Given the description of an element on the screen output the (x, y) to click on. 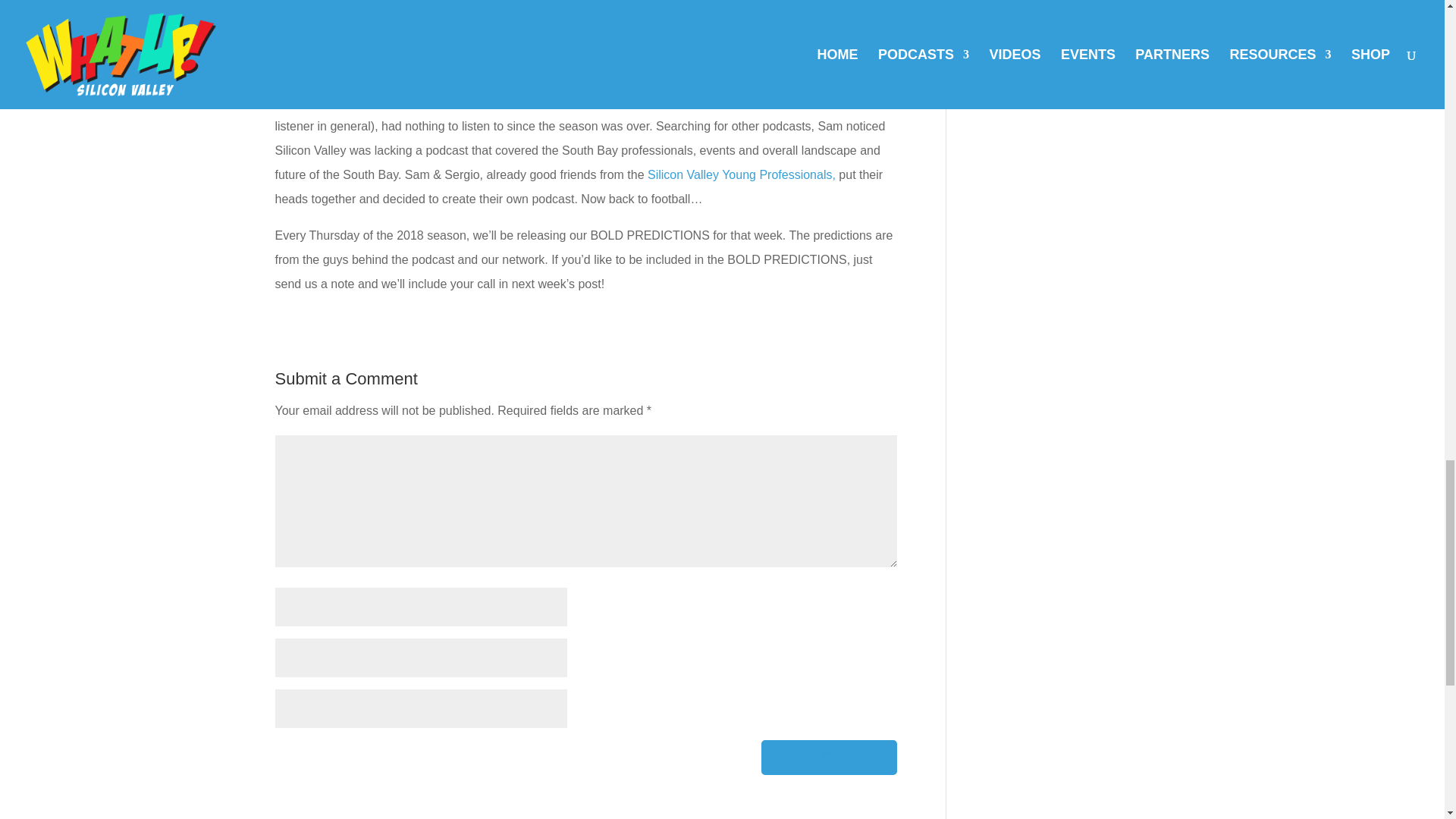
Submit Comment (828, 756)
